Given the description of an element on the screen output the (x, y) to click on. 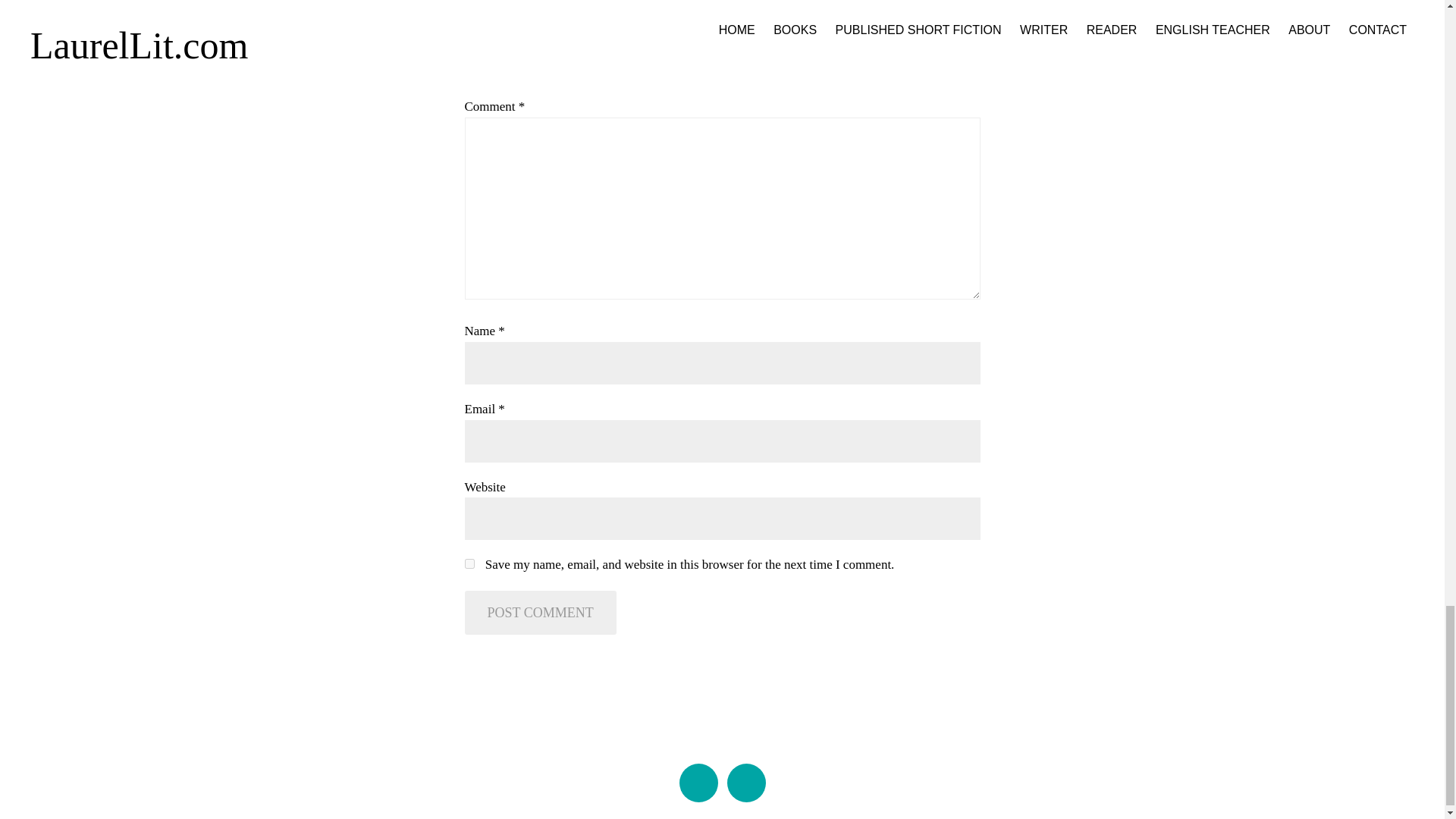
yes (469, 563)
Post Comment (539, 612)
Post Comment (539, 612)
